Given the description of an element on the screen output the (x, y) to click on. 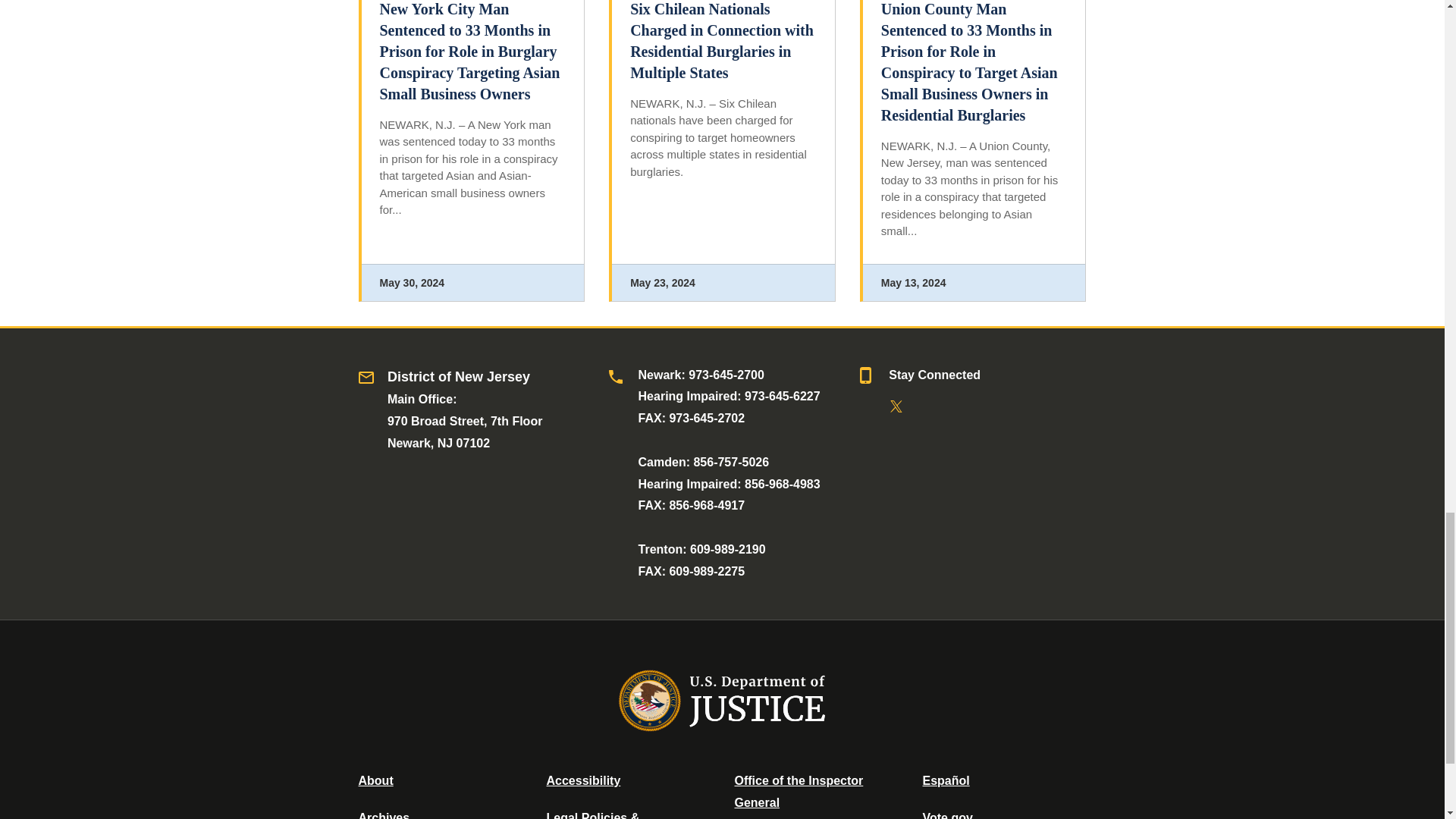
Department of Justice Archive (383, 815)
About DOJ (375, 780)
Legal Policies and Disclaimers (592, 815)
Accessibility Statement (583, 780)
